Given the description of an element on the screen output the (x, y) to click on. 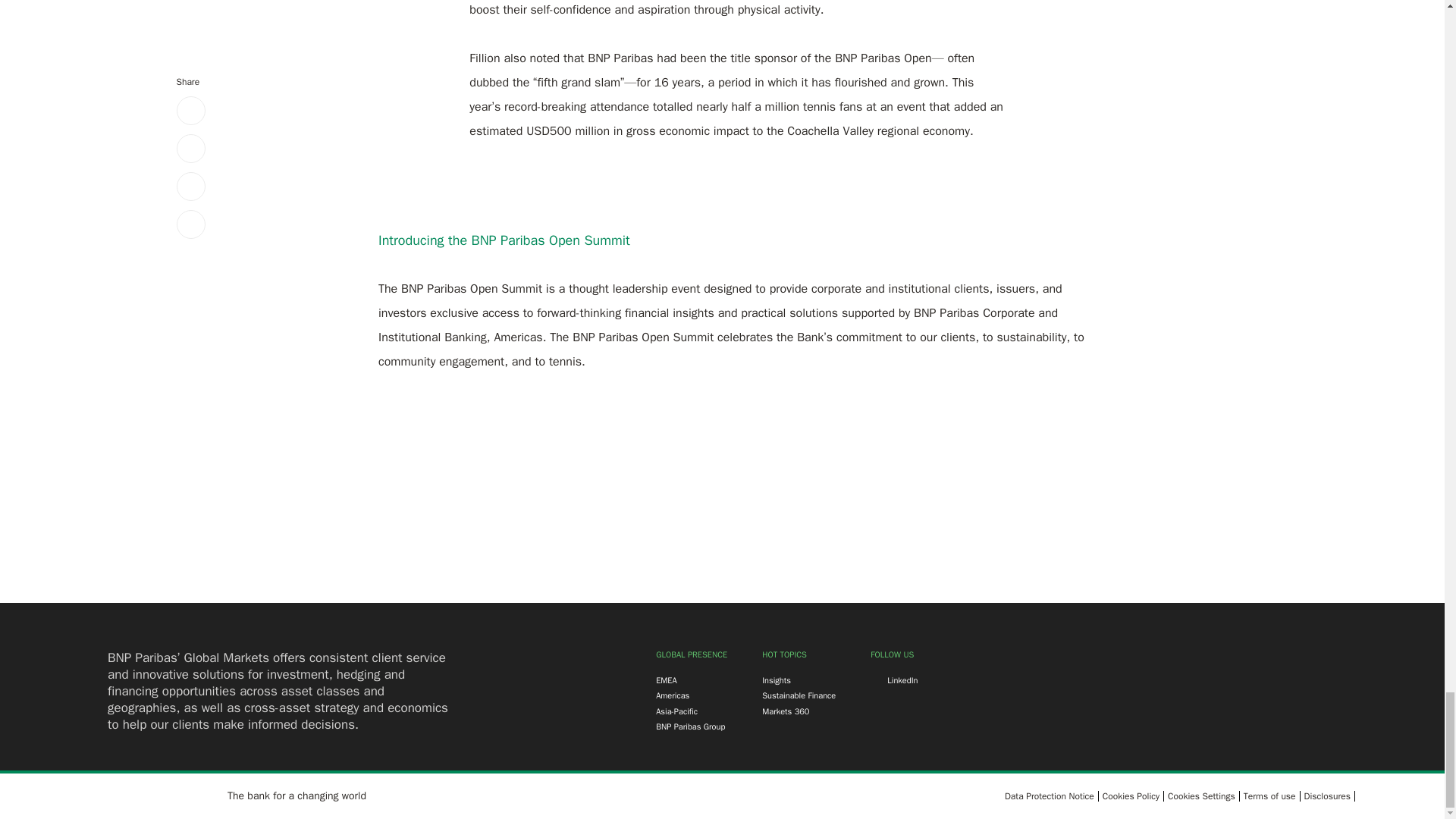
New tab (690, 726)
New tab (1269, 796)
